Given the description of an element on the screen output the (x, y) to click on. 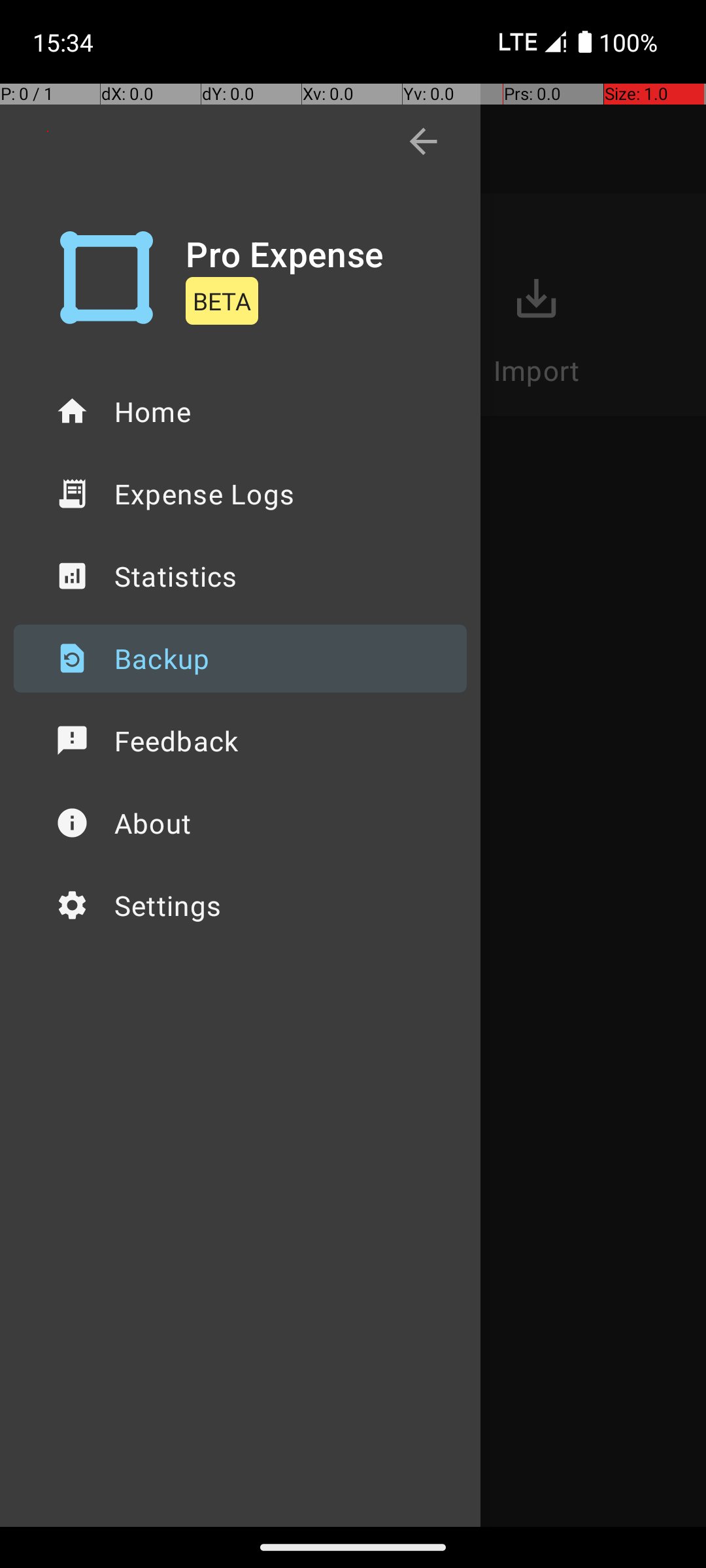
BETA Element type: android.widget.TextView (221, 300)
Statistics Element type: android.widget.CheckedTextView (239, 576)
Backup Element type: android.widget.CheckedTextView (239, 658)
